Given the description of an element on the screen output the (x, y) to click on. 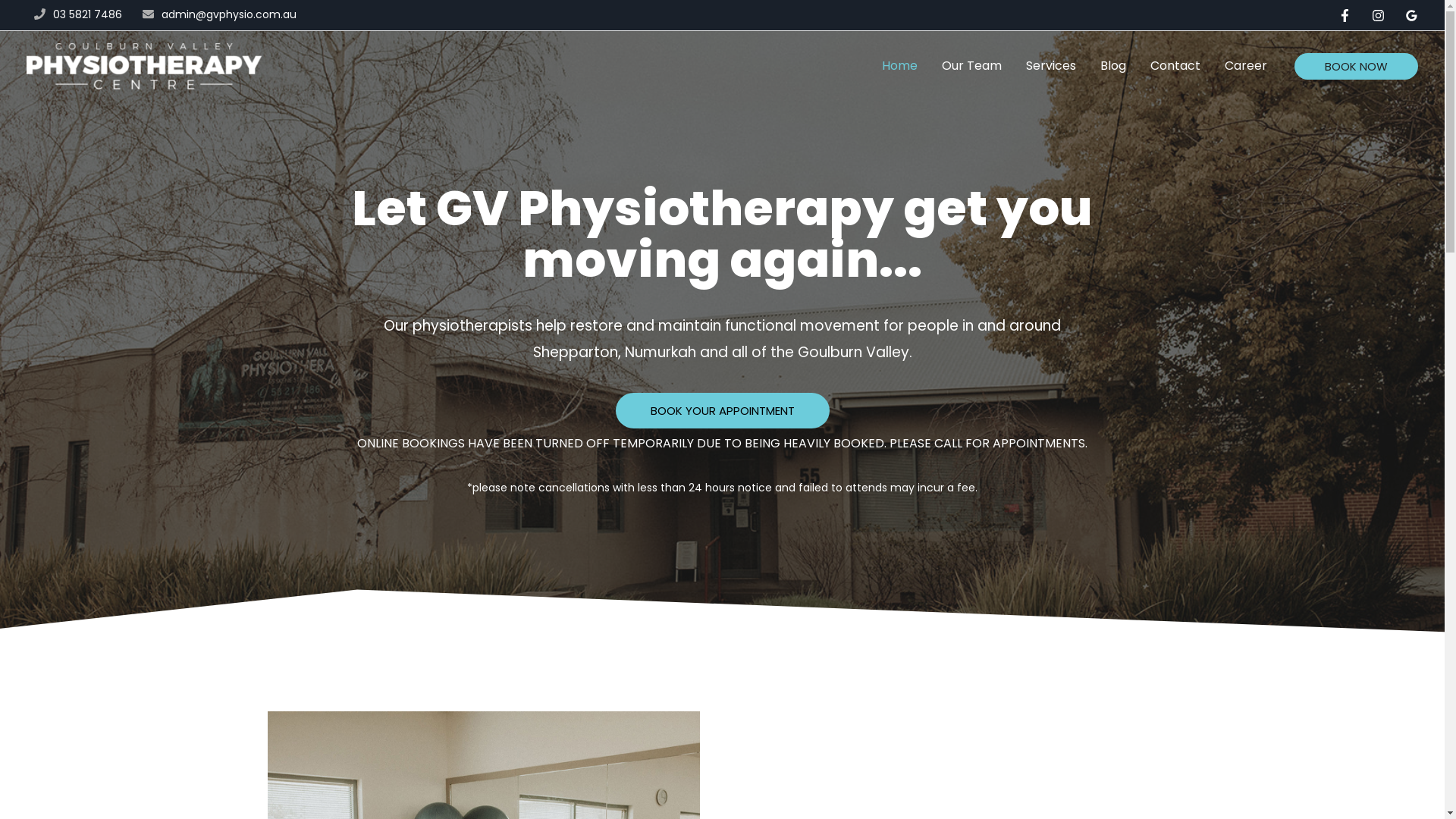
Services Element type: text (1050, 65)
BOOK NOW Element type: text (1356, 66)
Career Element type: text (1245, 65)
03 5821 7486 Element type: text (87, 13)
admin@gvphysio.com.au Element type: text (228, 13)
BOOK YOUR APPOINTMENT Element type: text (722, 410)
Home Element type: text (899, 65)
Our Team Element type: text (971, 65)
Blog Element type: text (1113, 65)
Contact Element type: text (1175, 65)
